Given the description of an element on the screen output the (x, y) to click on. 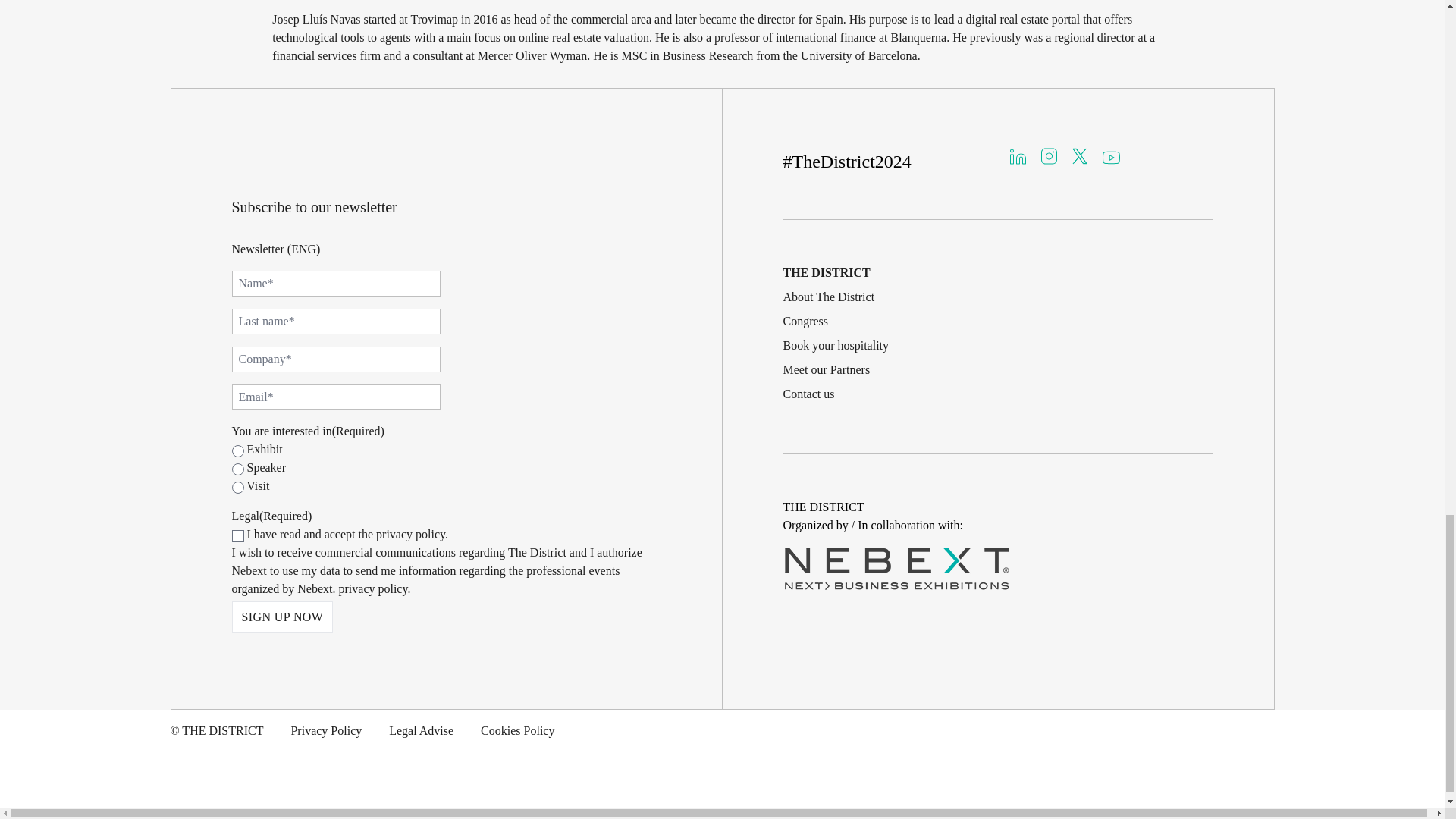
SIGN UP NOW (282, 617)
Exhibit (237, 451)
Speaker (237, 469)
Visit (237, 487)
